Given the description of an element on the screen output the (x, y) to click on. 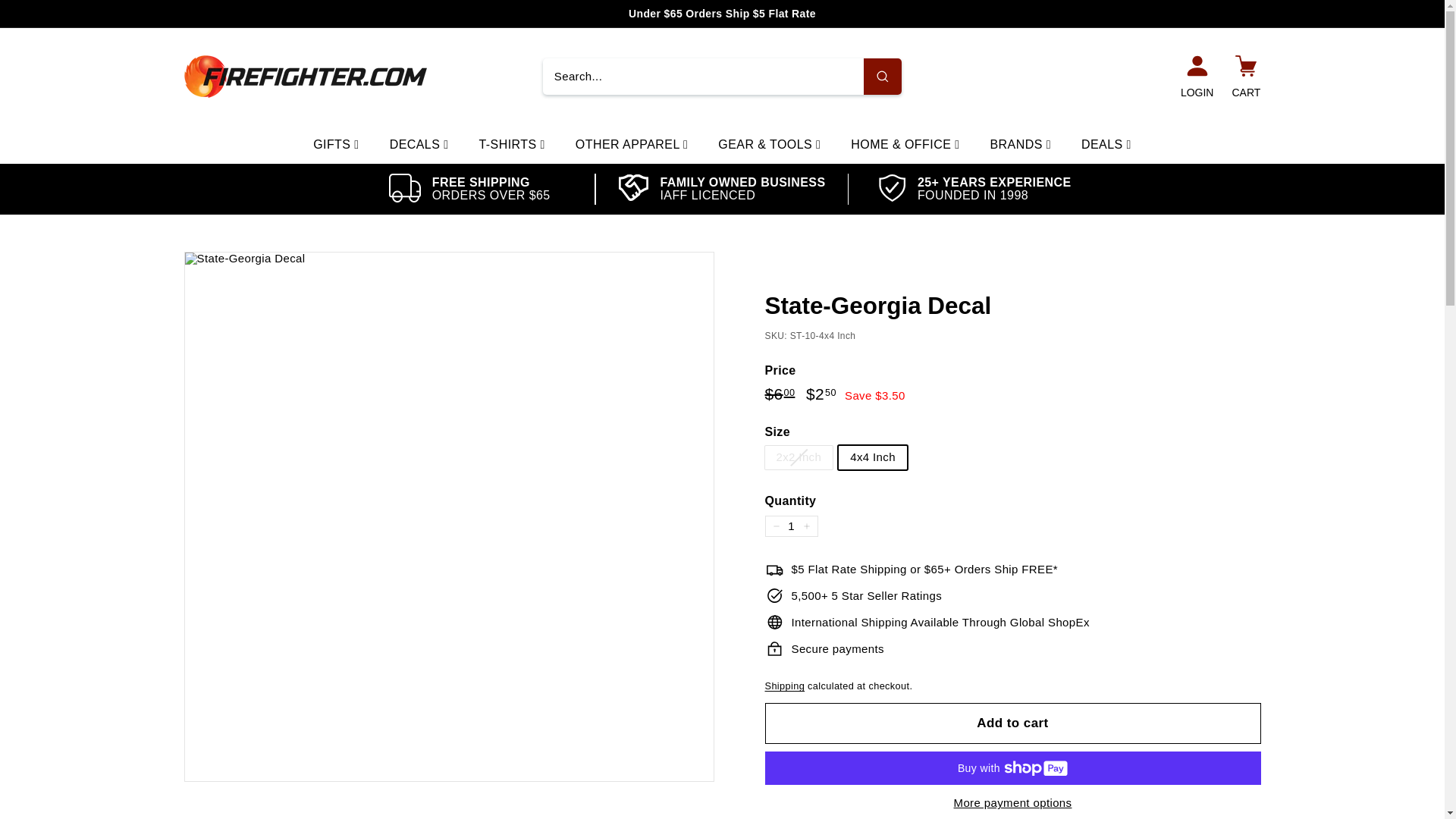
GIFTS (336, 144)
1 (790, 526)
Search (882, 76)
